Given the description of an element on the screen output the (x, y) to click on. 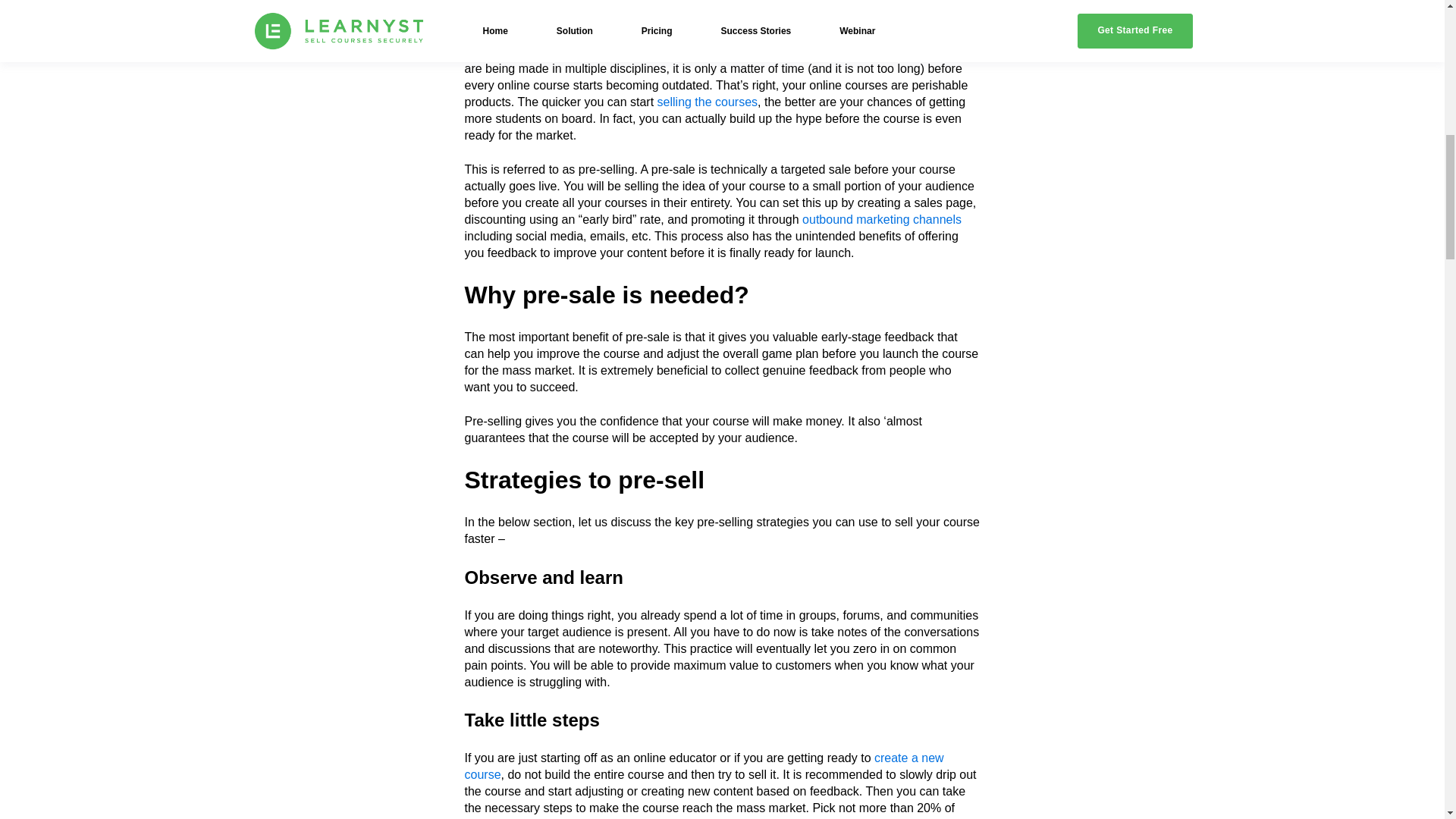
outbound marketing channels (881, 219)
selling the courses (708, 101)
create a new course (703, 766)
